Given the description of an element on the screen output the (x, y) to click on. 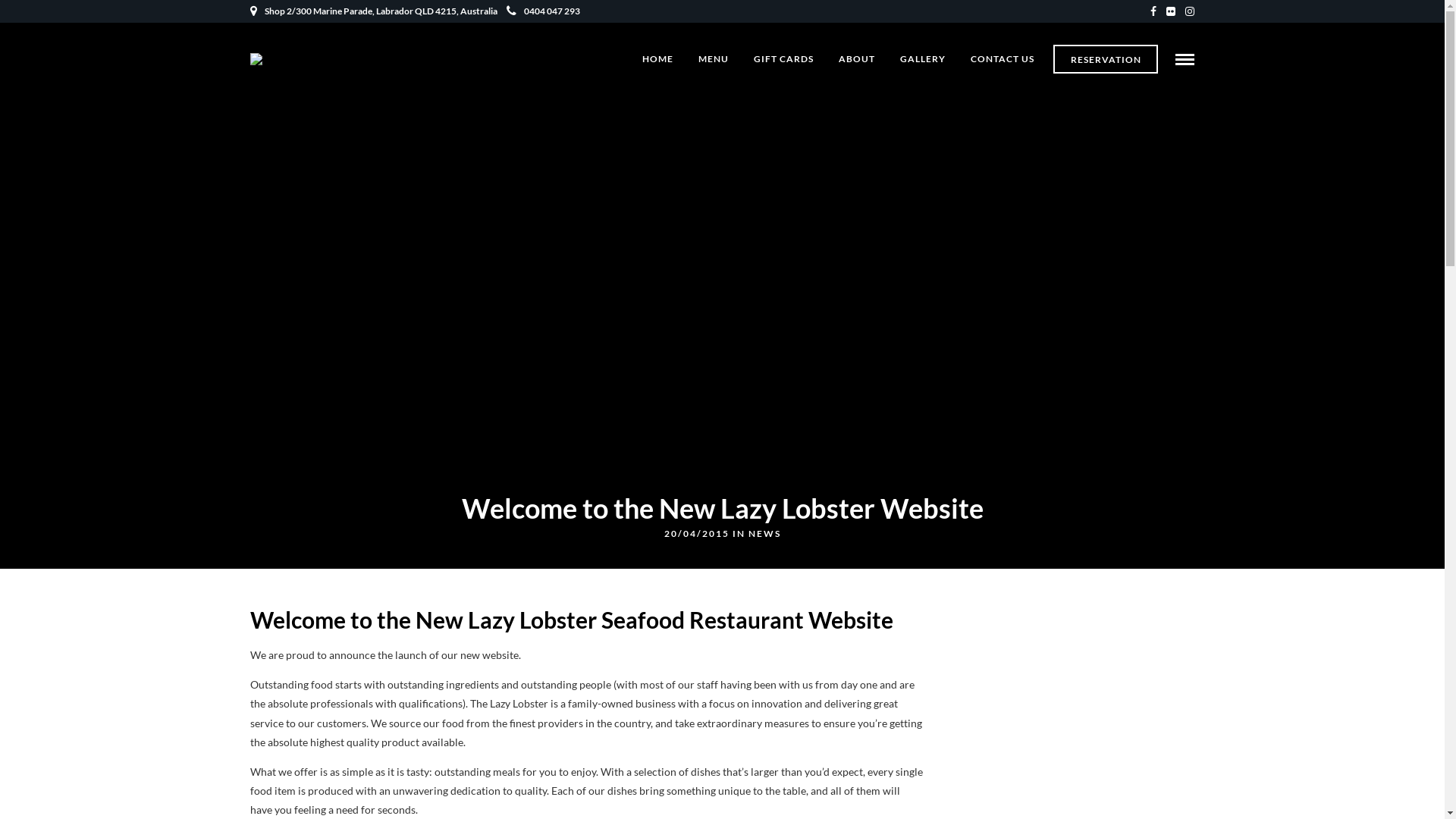
GALLERY Element type: text (922, 59)
CONTACT US Element type: text (1002, 59)
0404 047 293 Element type: text (543, 10)
GIFT CARDS Element type: text (783, 59)
Flickr Element type: hover (1170, 11)
Instagram Element type: hover (1189, 11)
NEWS Element type: text (763, 533)
MENU Element type: text (713, 59)
ABOUT Element type: text (856, 59)
HOME Element type: text (657, 59)
RESERVATION Element type: text (1105, 59)
